Given the description of an element on the screen output the (x, y) to click on. 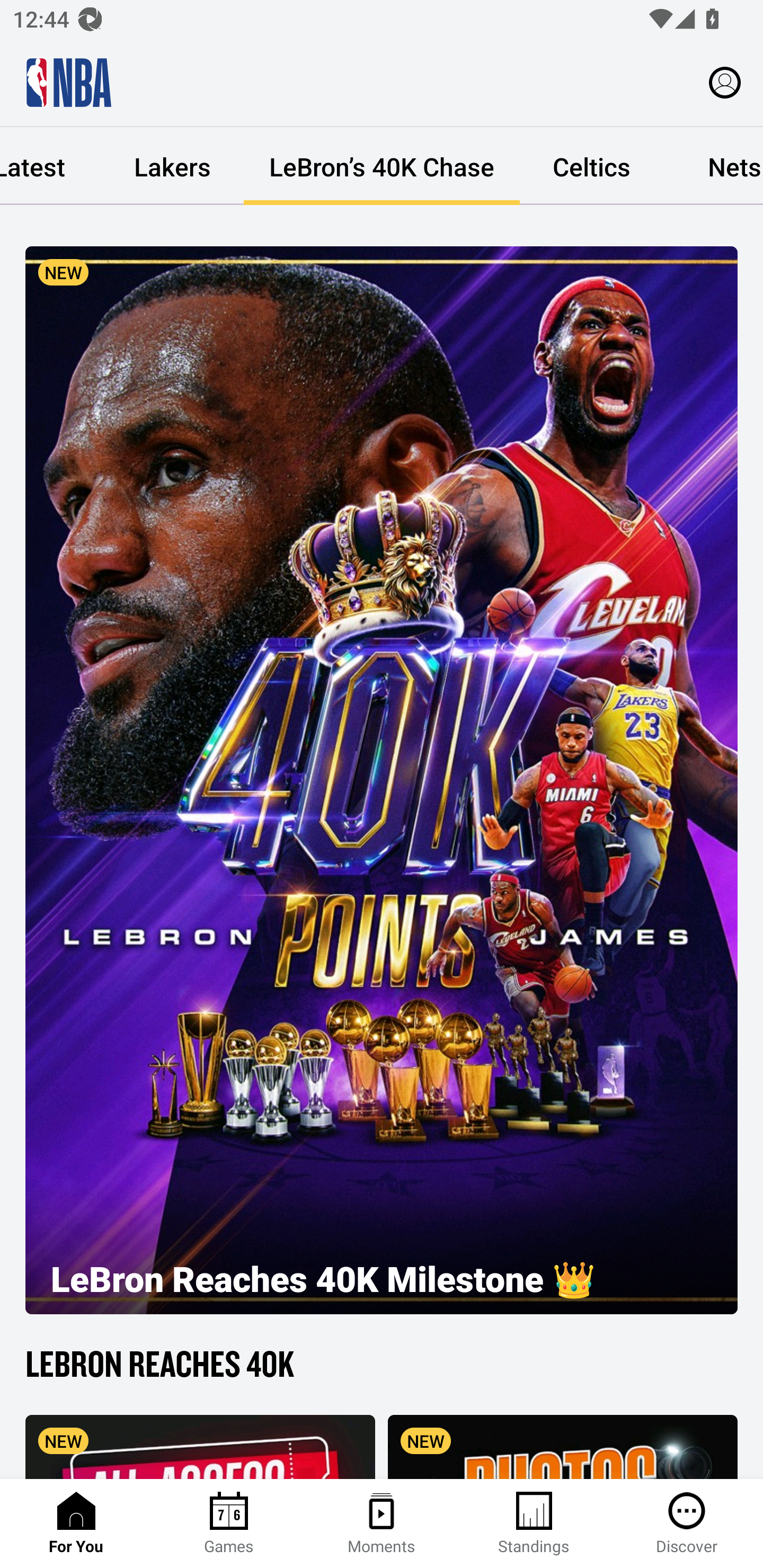
Profile (724, 81)
Lakers (171, 166)
Celtics (591, 166)
NEW LeBron Reaches 40K Milestone 👑 (381, 779)
LEBRON REACHES 40K NEW NEW (381, 1408)
Games (228, 1523)
Moments (381, 1523)
Standings (533, 1523)
Discover (686, 1523)
